Given the description of an element on the screen output the (x, y) to click on. 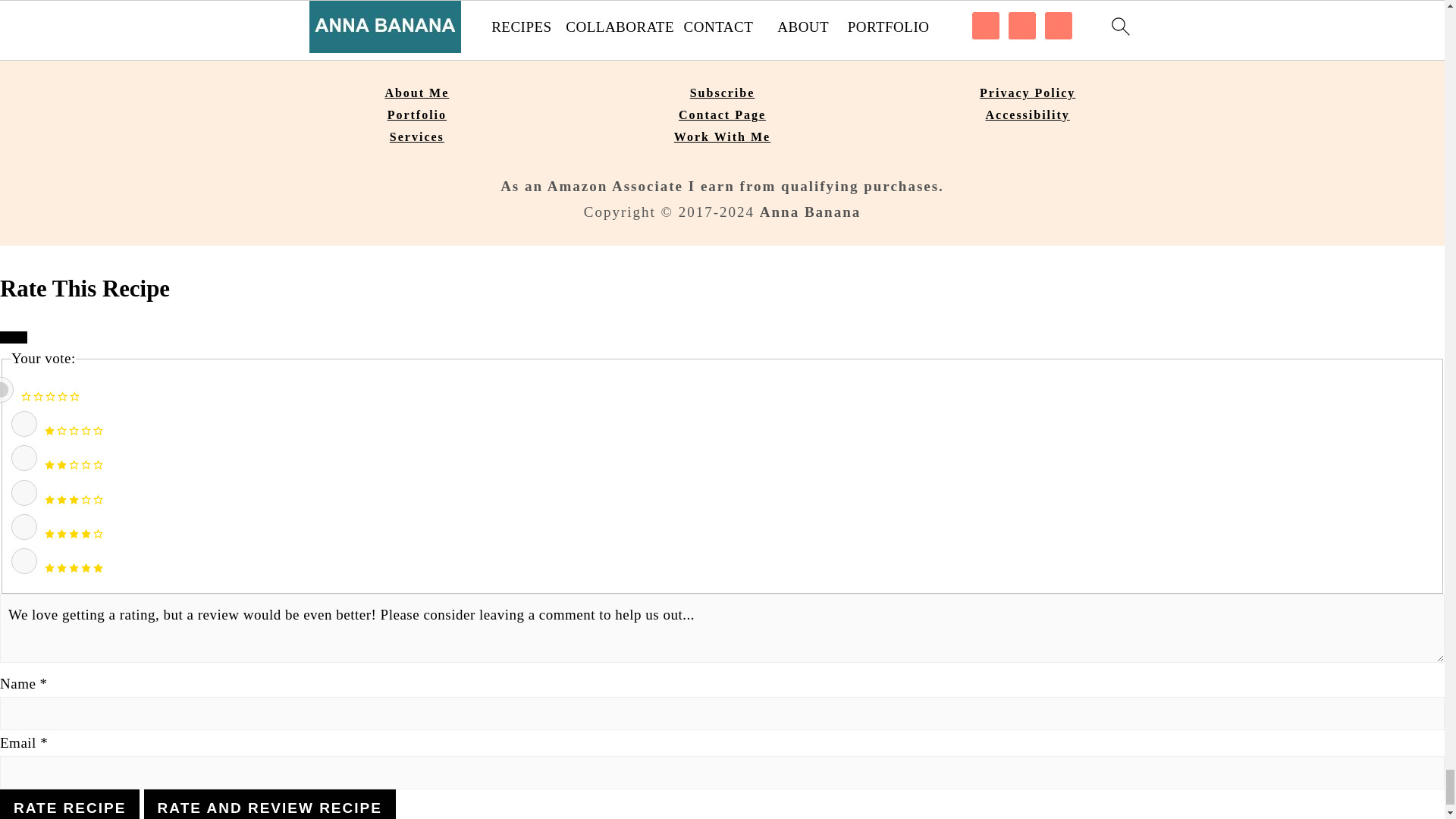
5 (24, 560)
1 (24, 423)
3 (24, 492)
2 (24, 457)
4 (24, 526)
